Given the description of an element on the screen output the (x, y) to click on. 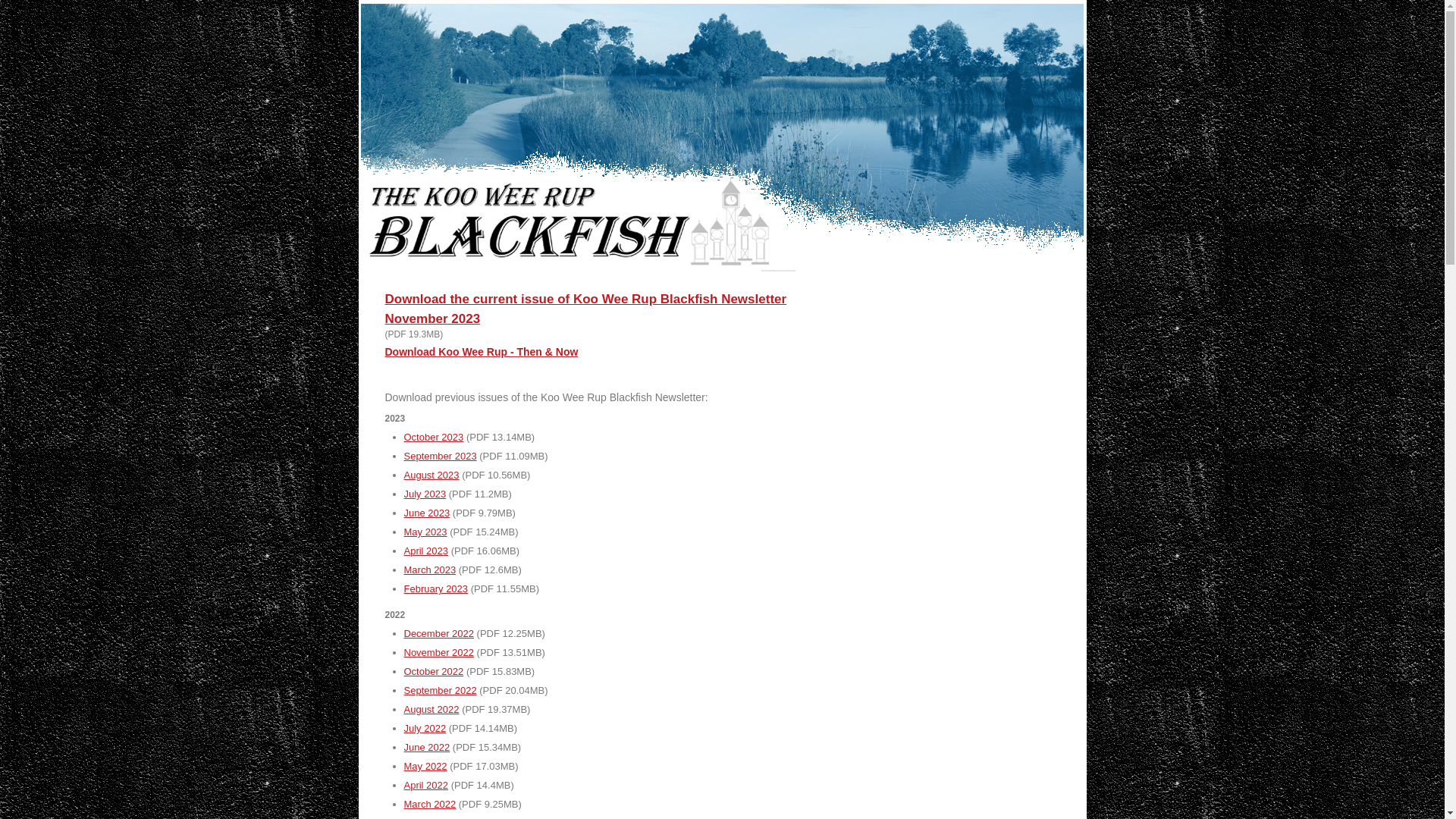
June 2023 Element type: text (426, 512)
February 2023 Element type: text (435, 588)
September 2023 Element type: text (439, 455)
November 2022 Element type: text (438, 652)
April 2022 Element type: text (425, 784)
September 2022 Element type: text (439, 690)
October 2023 Element type: text (433, 436)
December 2022 Element type: text (438, 633)
October 2022 Element type: text (433, 671)
March 2023 Element type: text (429, 569)
May 2022 Element type: text (424, 765)
August 2022 Element type: text (430, 709)
August 2023 Element type: text (430, 474)
July 2022 Element type: text (424, 728)
November 2023 Element type: text (432, 318)
March 2022 Element type: text (429, 803)
July 2023 Element type: text (424, 493)
Download Koo Wee Rup - Then & Now Element type: text (481, 351)
June 2022 Element type: text (426, 747)
April 2023 Element type: text (425, 550)
May 2023 Element type: text (424, 531)
